Given the description of an element on the screen output the (x, y) to click on. 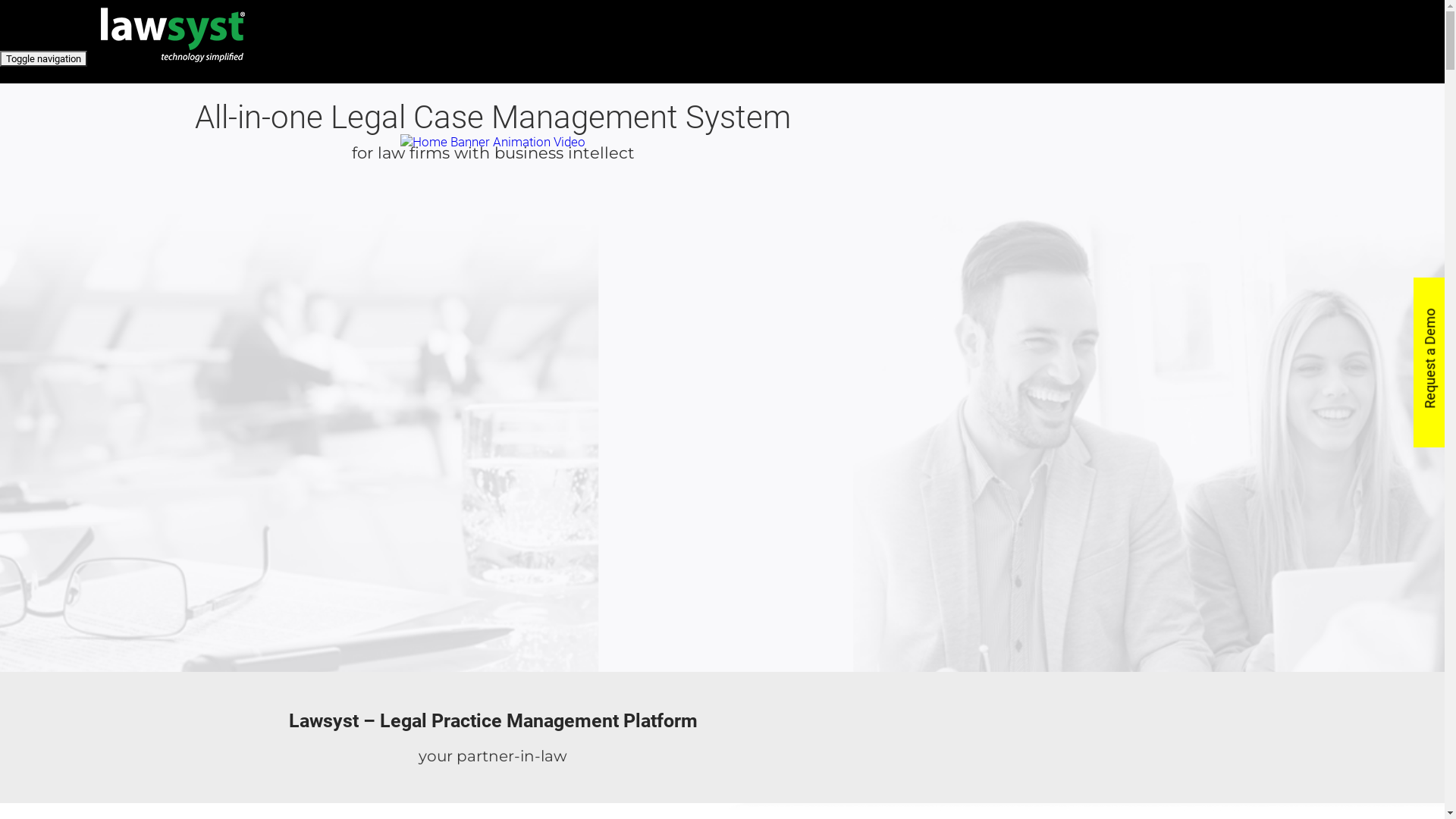
HOME Element type: text (811, 99)
COURT BUNDLE Element type: text (841, 128)
PRICING Element type: text (818, 157)
CORE FEATURES Element type: text (841, 113)
FREE TRIAL Element type: text (826, 171)
61 29 133 86 55 Element type: text (934, 99)
Toggle navigation Element type: text (43, 58)
LEGAL AID Element type: text (824, 142)
